Given the description of an element on the screen output the (x, y) to click on. 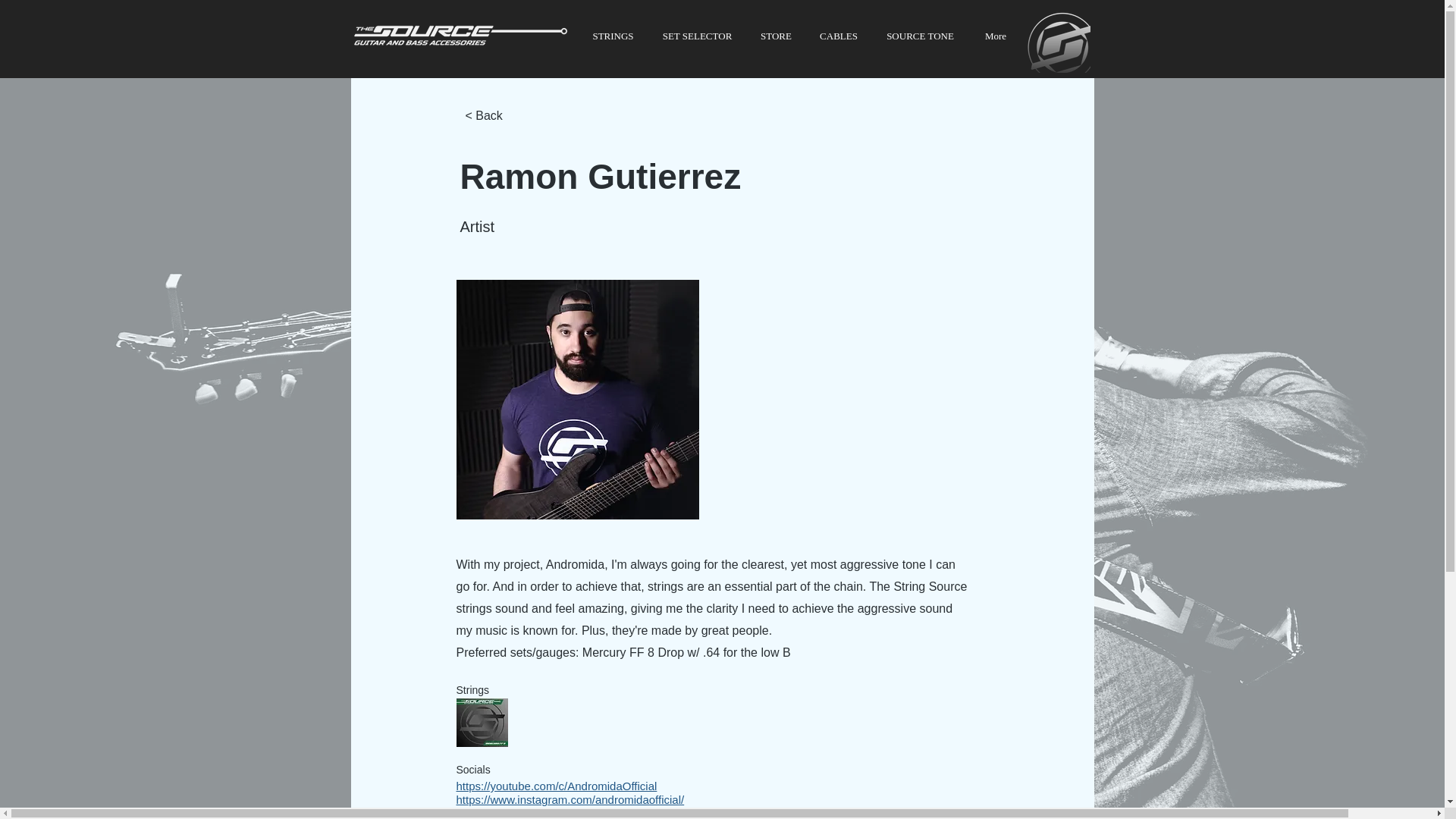
SET SELECTOR (696, 35)
CABLES (837, 35)
SOURCE TONE (920, 35)
MFF-08.jpg (482, 722)
STORE (775, 35)
STRINGS (612, 35)
